Given the description of an element on the screen output the (x, y) to click on. 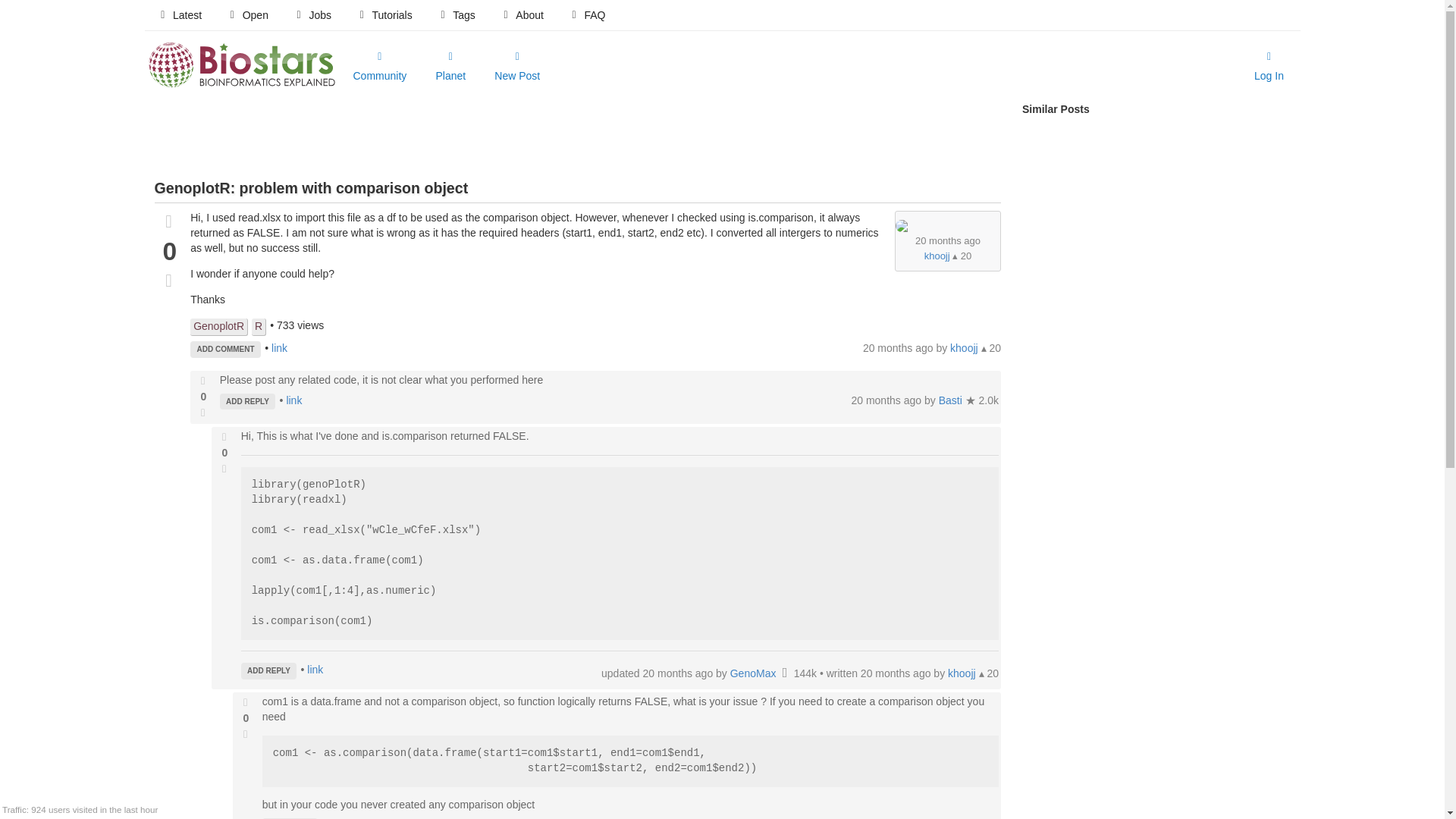
ADD REPLY (247, 401)
Latest (179, 15)
Tags (456, 15)
FAQ (586, 15)
GenoplotR (218, 326)
khoojj (964, 347)
Open (247, 15)
Log In (1269, 66)
link (278, 347)
About (521, 15)
Community (379, 66)
Jobs (312, 15)
Planet (450, 66)
3rd party ad content (577, 136)
khoojj (937, 255)
